Given the description of an element on the screen output the (x, y) to click on. 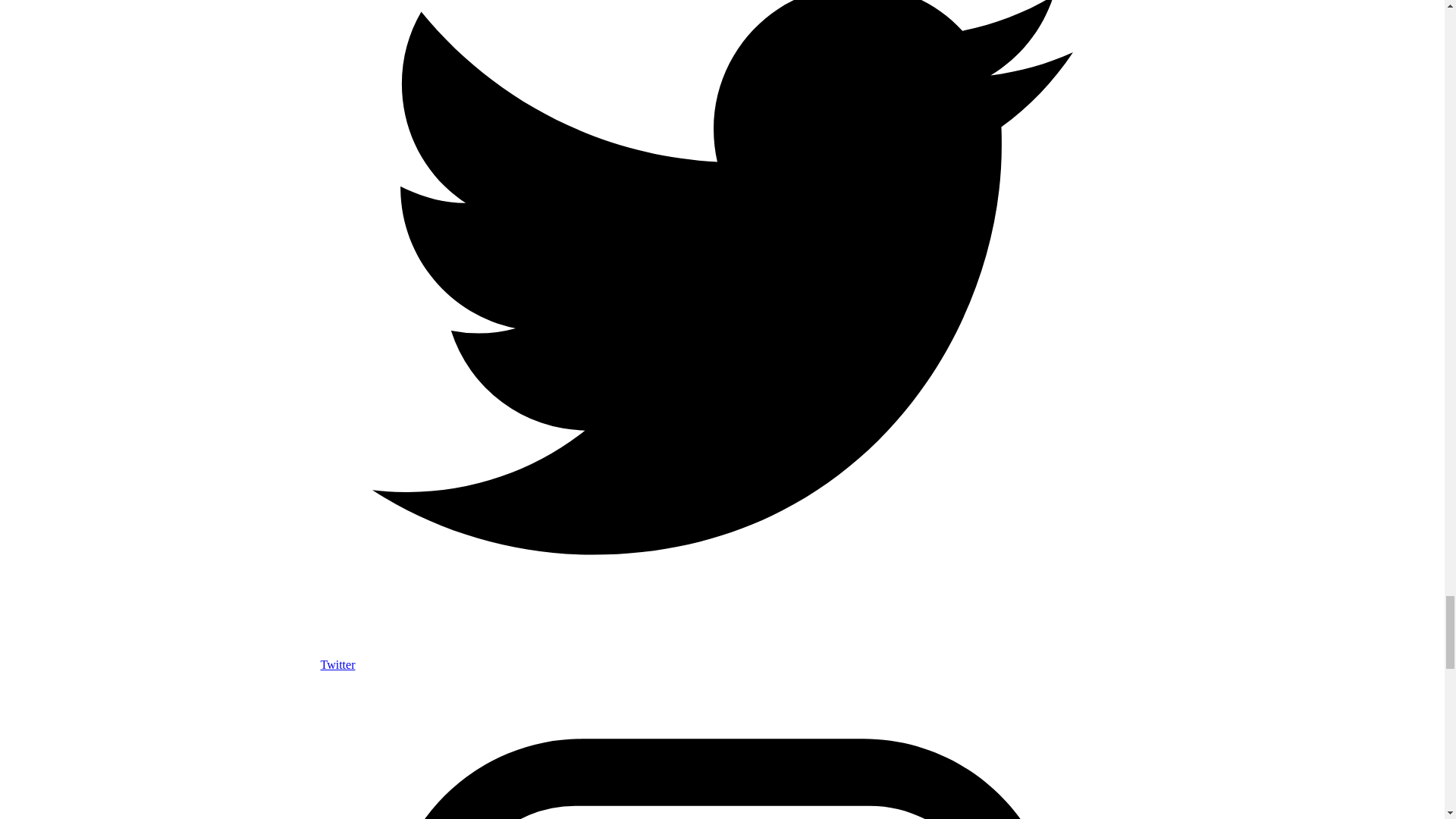
Twitter (722, 657)
